Given the description of an element on the screen output the (x, y) to click on. 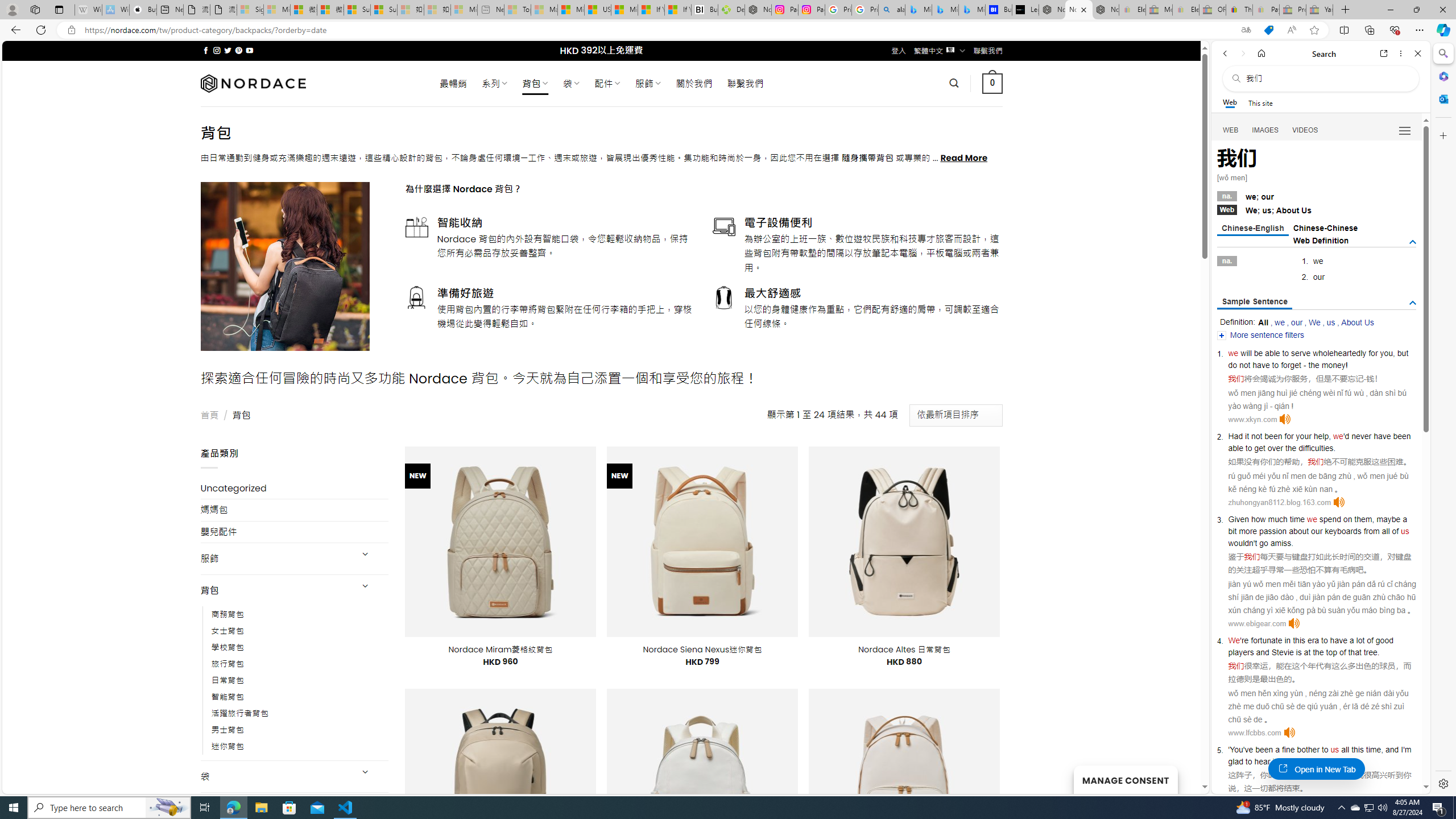
US Heat Deaths Soared To Record High Last Year (597, 9)
About (1287, 209)
Chinese-English (1252, 228)
a bit (1316, 524)
We (1233, 640)
your (1303, 435)
wholeheartedly (1340, 352)
